Given the description of an element on the screen output the (x, y) to click on. 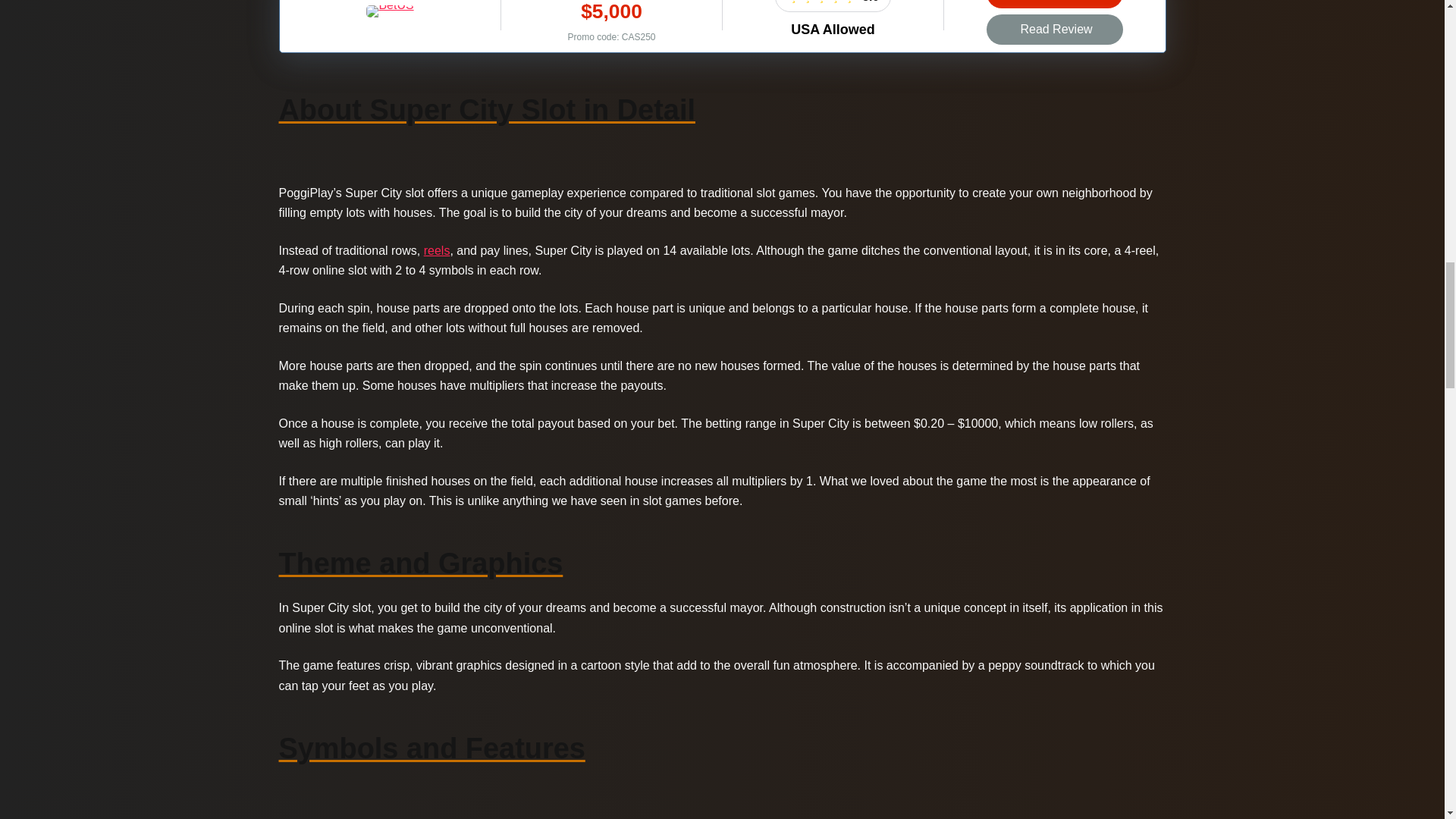
Read Review (1053, 29)
BetUS (389, 5)
Read Review (1053, 29)
Play Now (1053, 4)
Play Now (1053, 4)
reels (436, 250)
